Given the description of an element on the screen output the (x, y) to click on. 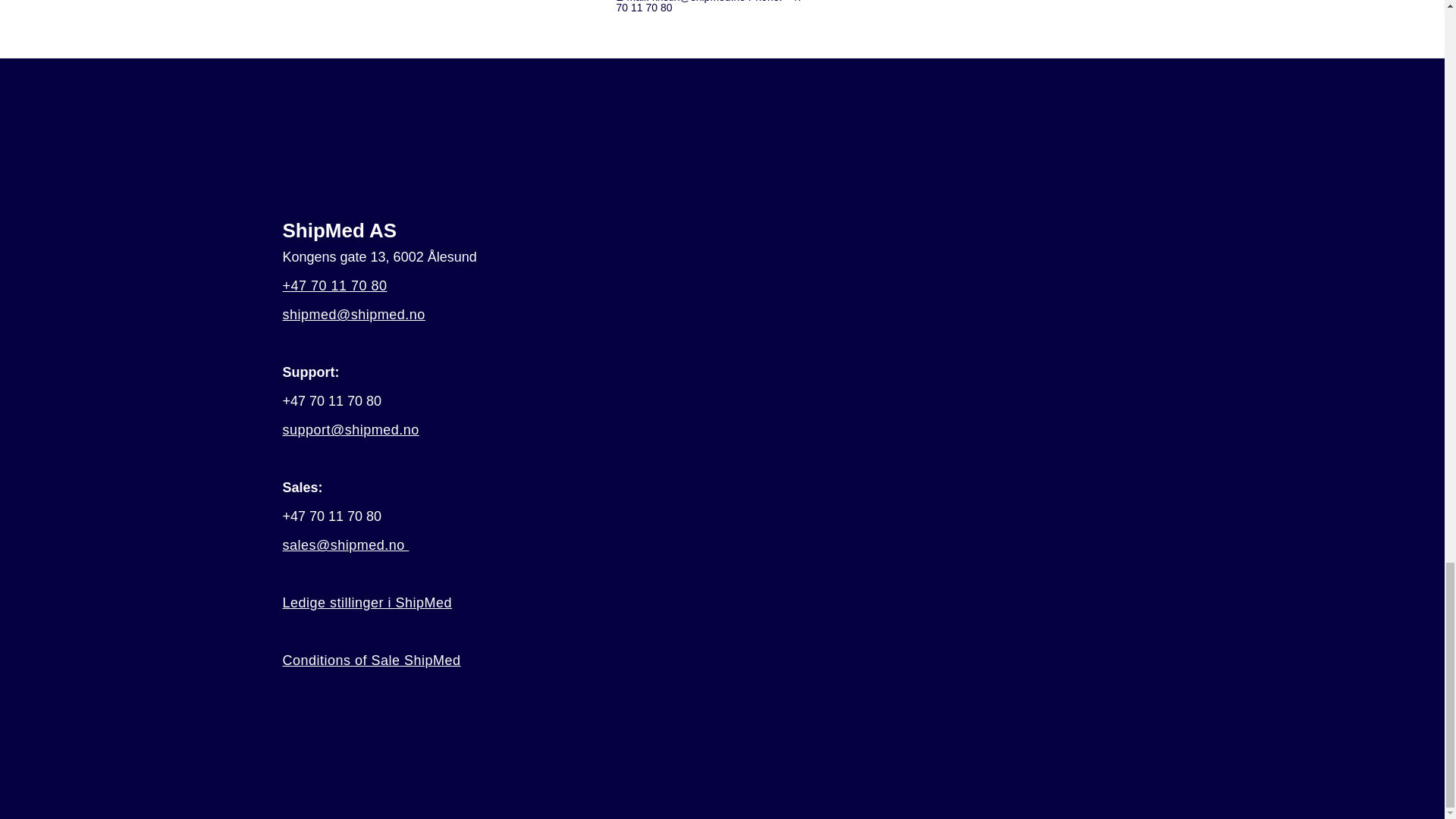
Ledige stillinger i Ship Med (366, 602)
Conditions of Sale ShipMed (371, 660)
Condition of Sale (371, 660)
Ledige stillinger i ShipMed (366, 602)
